Given the description of an element on the screen output the (x, y) to click on. 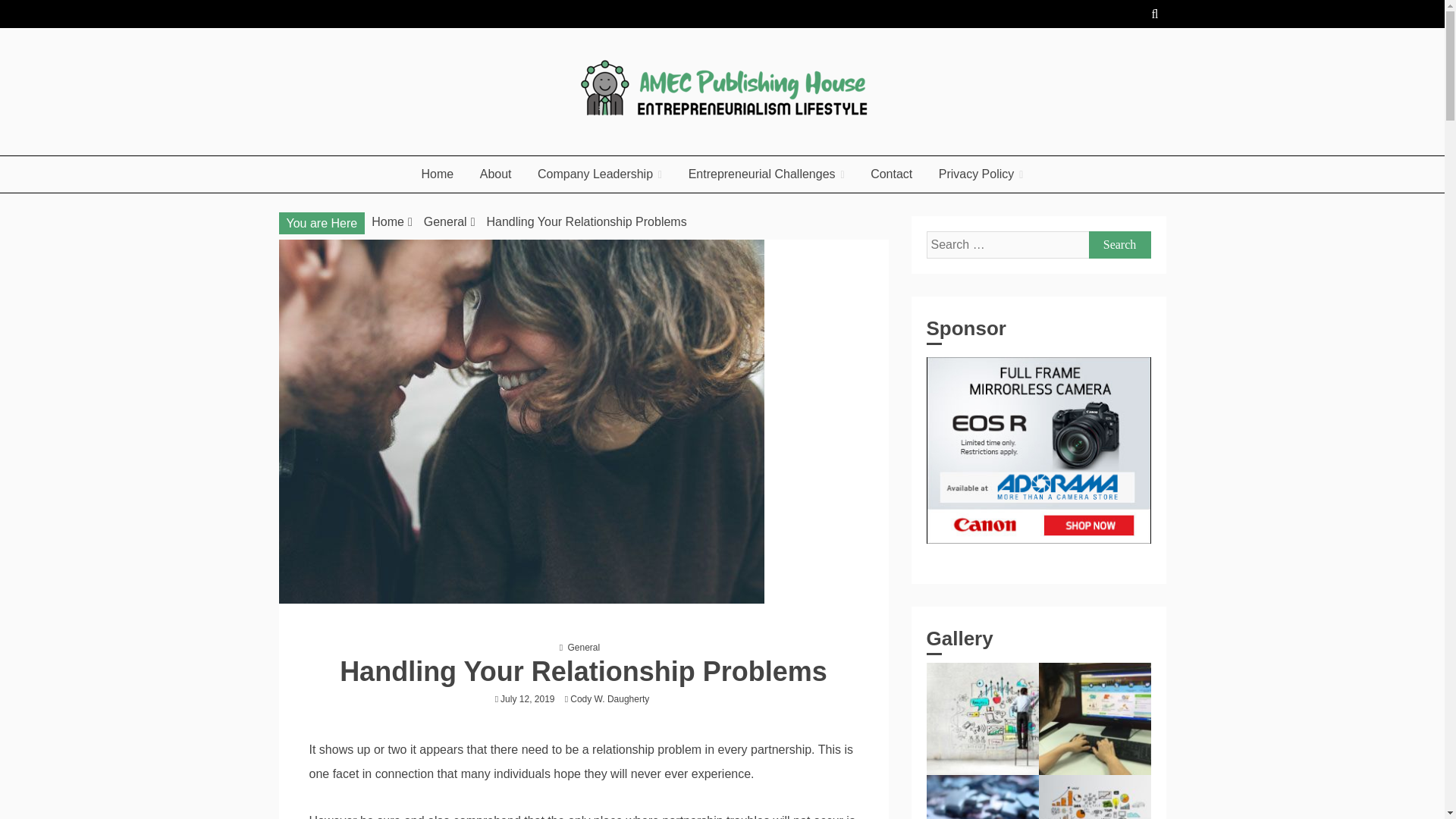
Handling Your Relationship Problems (586, 221)
Entrepreneurial Challenges (766, 173)
About (495, 173)
Search (1120, 244)
Home (437, 173)
July 12, 2019 (527, 698)
Contact (891, 173)
Company Leadership (598, 173)
Search (1120, 244)
Home (387, 221)
